Given the description of an element on the screen output the (x, y) to click on. 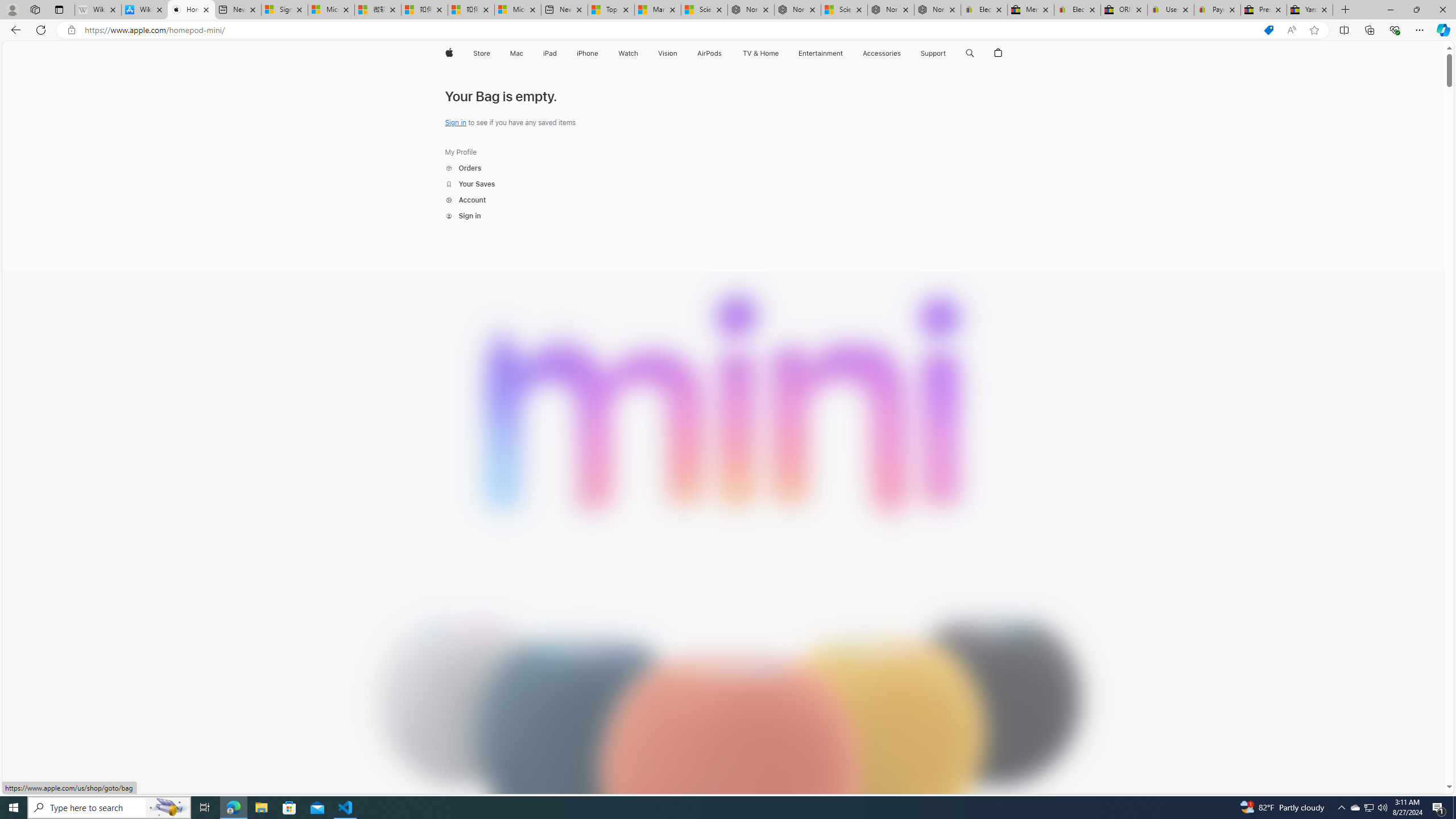
Orders (470, 168)
Overview (897, 80)
Store (481, 53)
Support menu (948, 53)
Mac (516, 53)
Class: globalnav-item globalnav-search shift-0-1 (969, 53)
Orders (462, 167)
iPad (550, 53)
AirPods (709, 53)
